Given the description of an element on the screen output the (x, y) to click on. 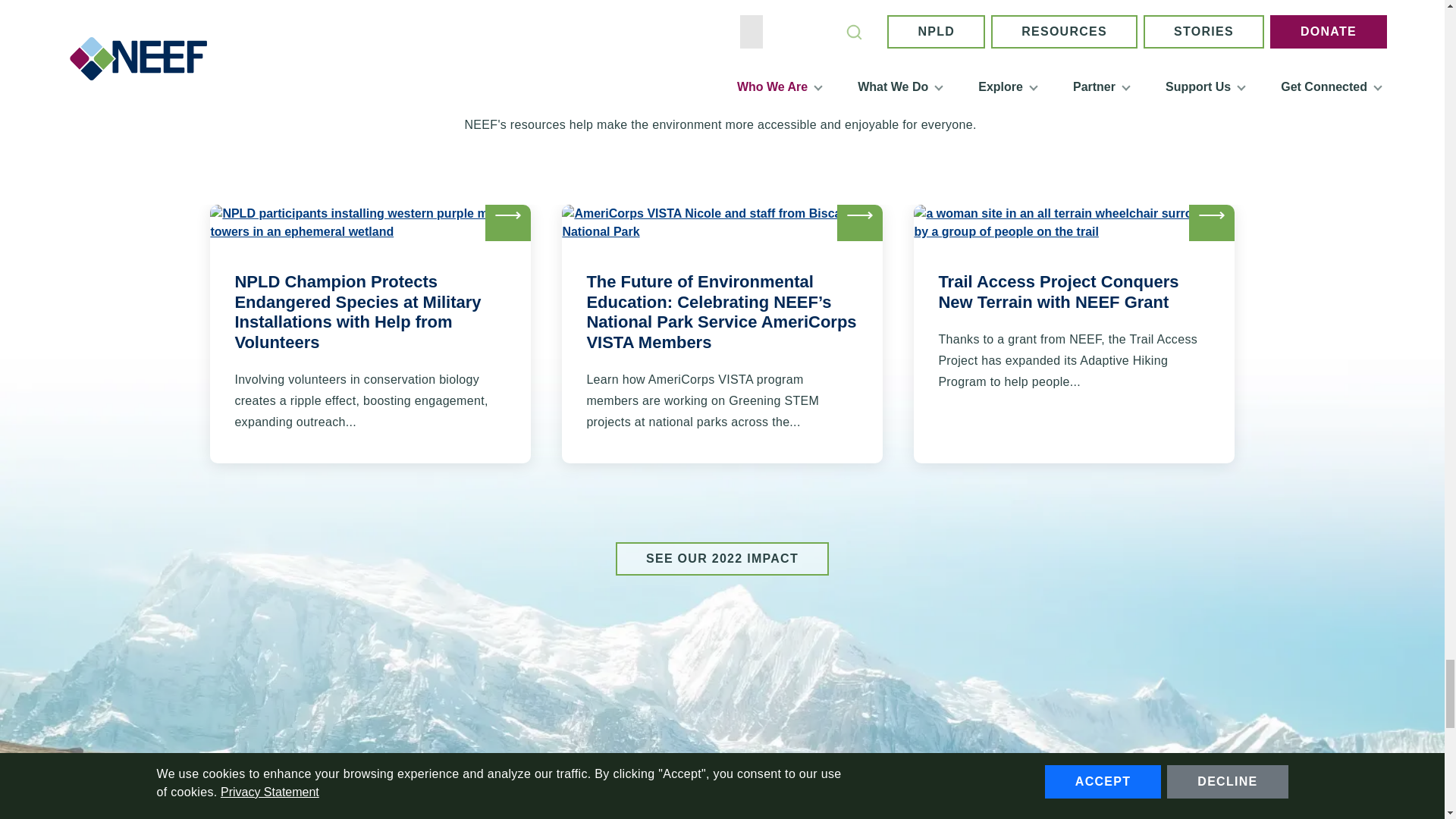
Our Impact 2022 (721, 558)
